Given the description of an element on the screen output the (x, y) to click on. 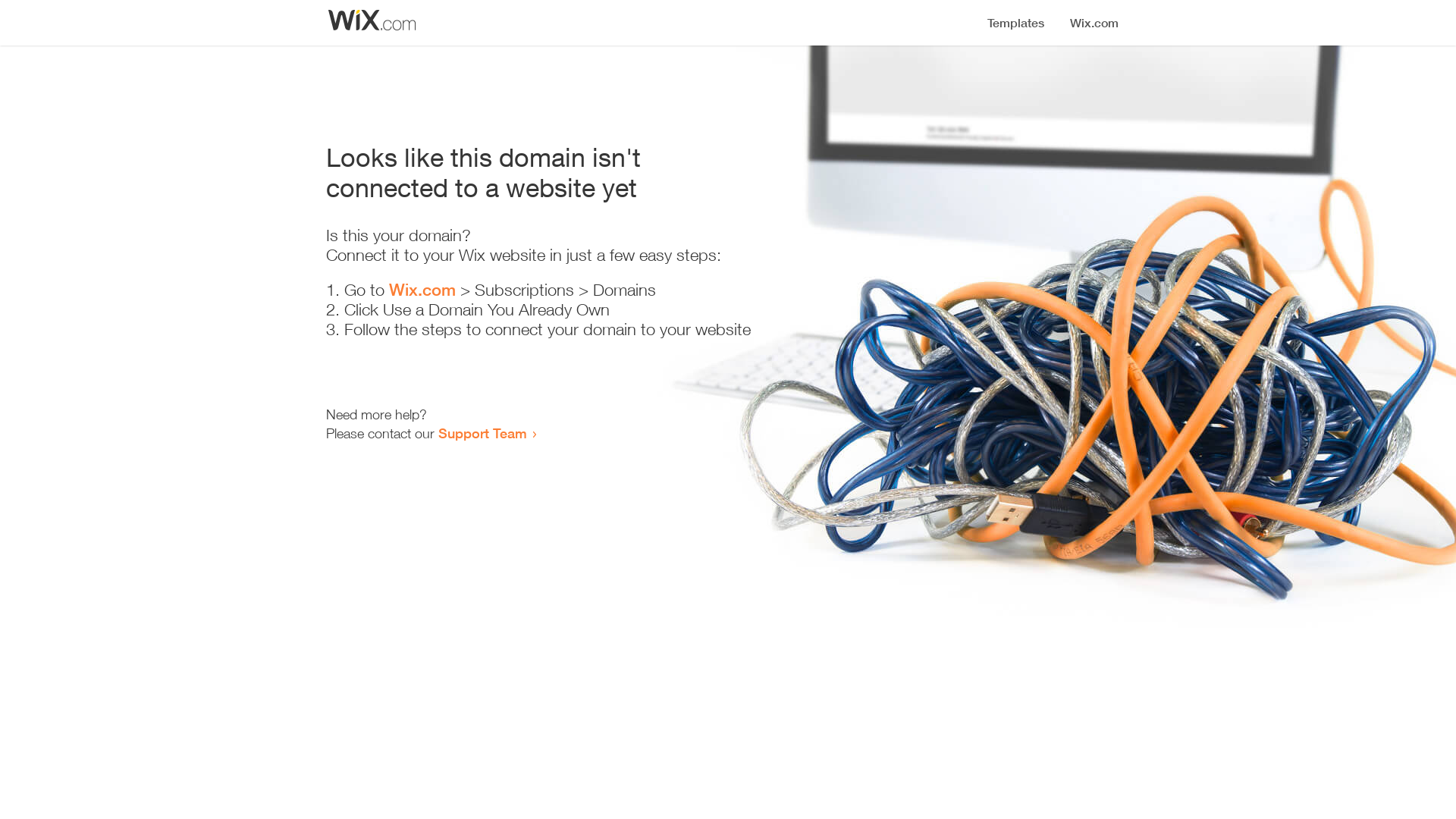
Support Team Element type: text (482, 432)
Wix.com Element type: text (422, 289)
